Given the description of an element on the screen output the (x, y) to click on. 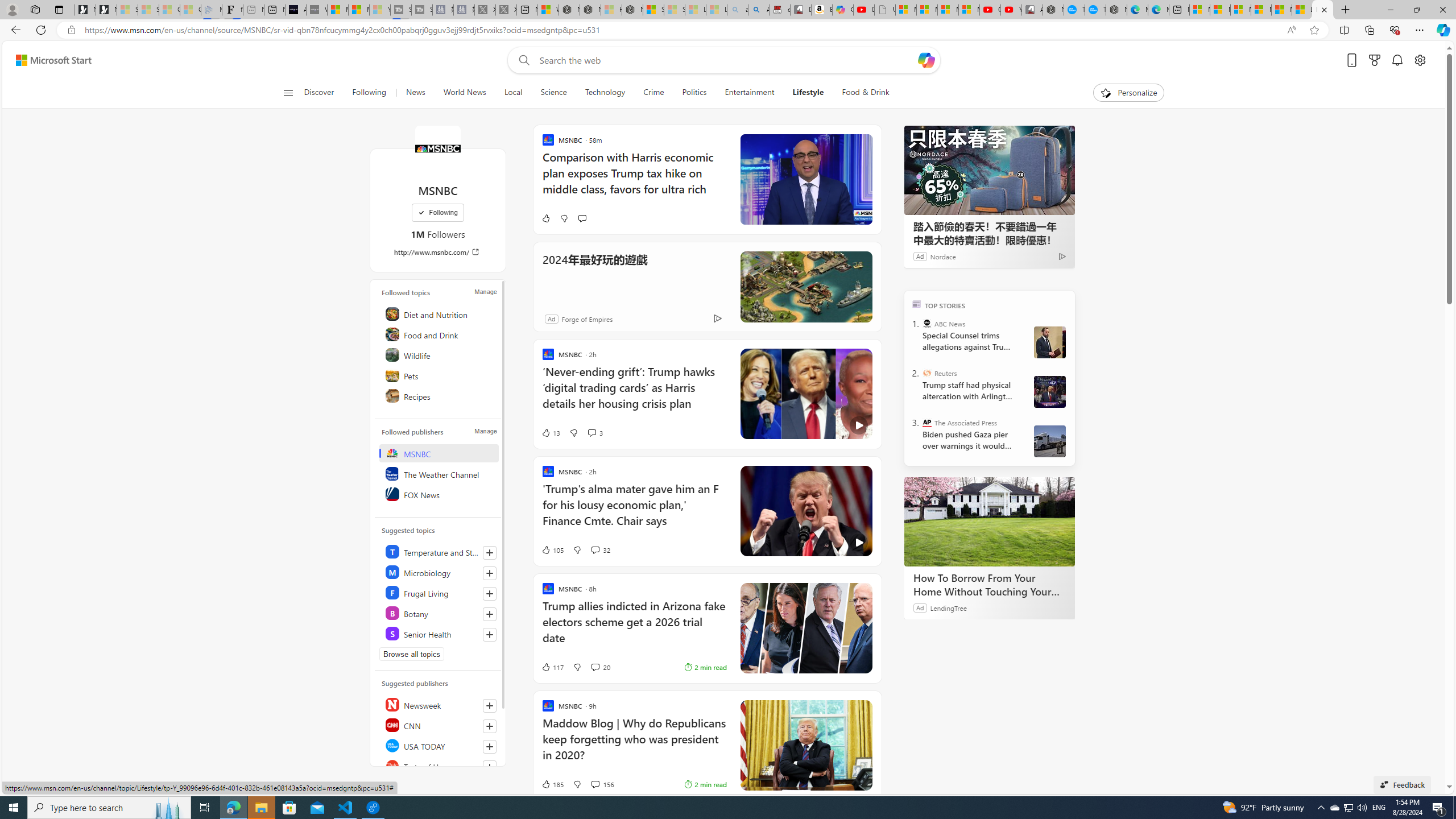
USA TODAY (439, 745)
Enter your search term (726, 59)
Class: highlight (439, 633)
How To Borrow From Your Home Without Touching Your Mortgage (988, 584)
Food and Drink (439, 334)
Politics (694, 92)
Diet and Nutrition (439, 313)
